Given the description of an element on the screen output the (x, y) to click on. 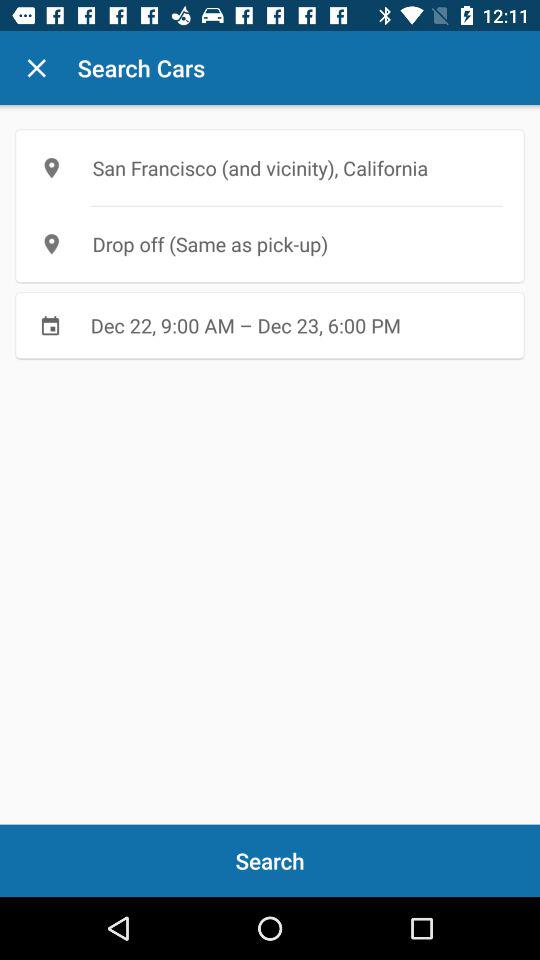
select icon next to search cars icon (36, 68)
